Given the description of an element on the screen output the (x, y) to click on. 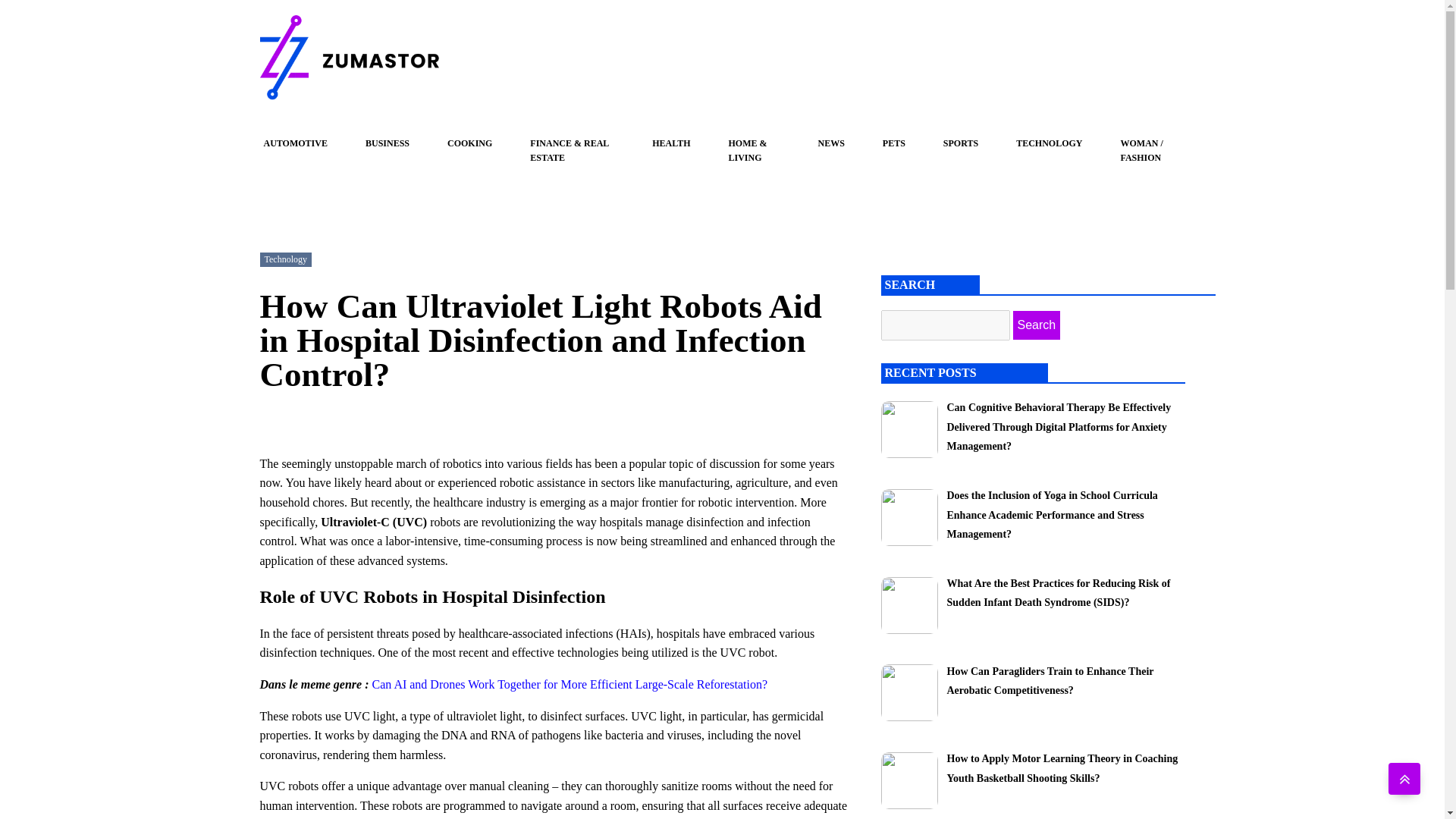
AUTOMOTIVE (295, 143)
BUSINESS (387, 143)
HEALTH (671, 143)
NEWS (831, 143)
Search (1037, 325)
